Given the description of an element on the screen output the (x, y) to click on. 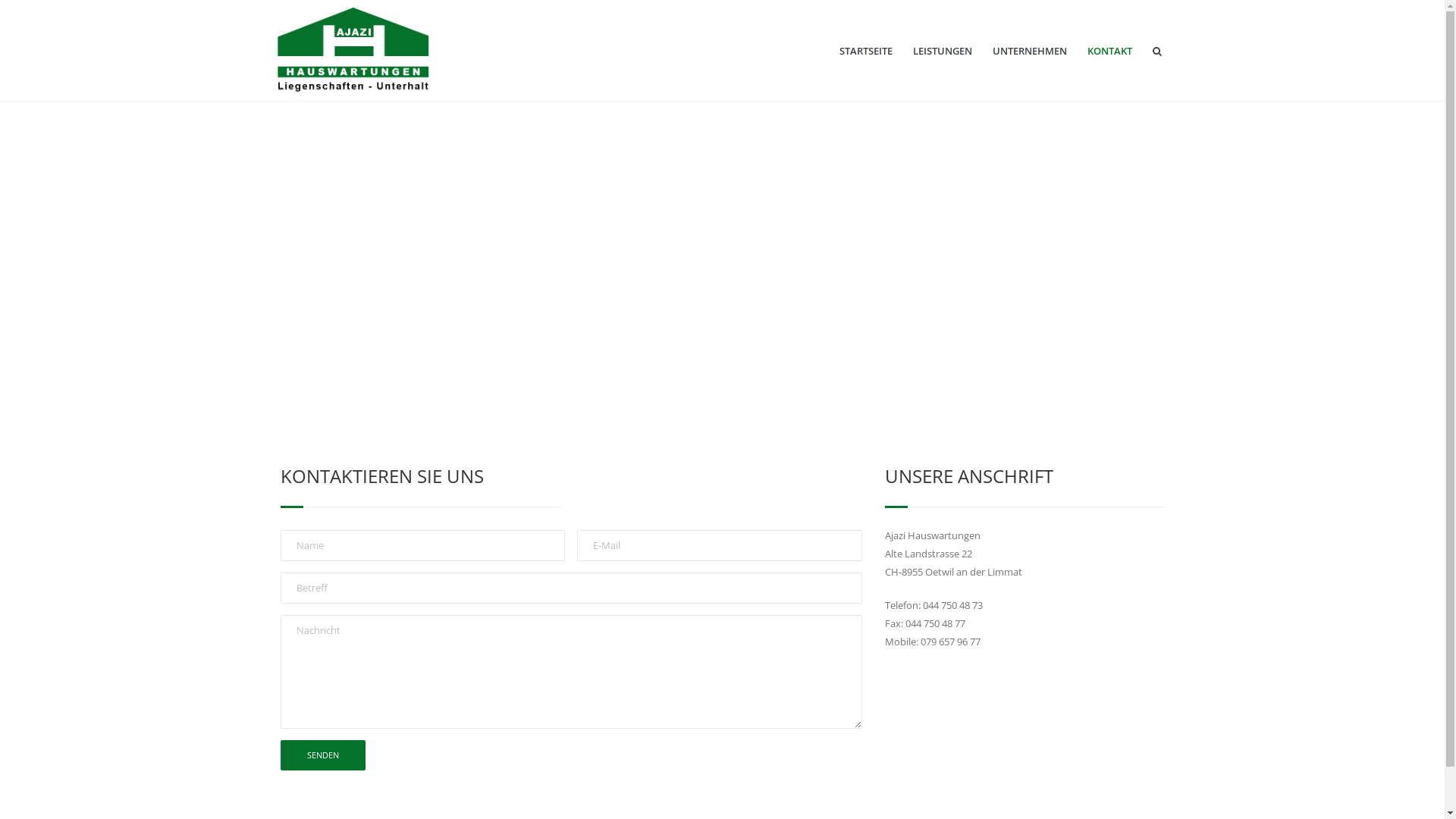
UNTERNEHMEN Element type: text (1029, 50)
STARTSEITE Element type: text (865, 50)
KONTAKT Element type: text (1109, 50)
LEISTUNGEN Element type: text (942, 50)
Senden Element type: text (322, 755)
